Given the description of an element on the screen output the (x, y) to click on. 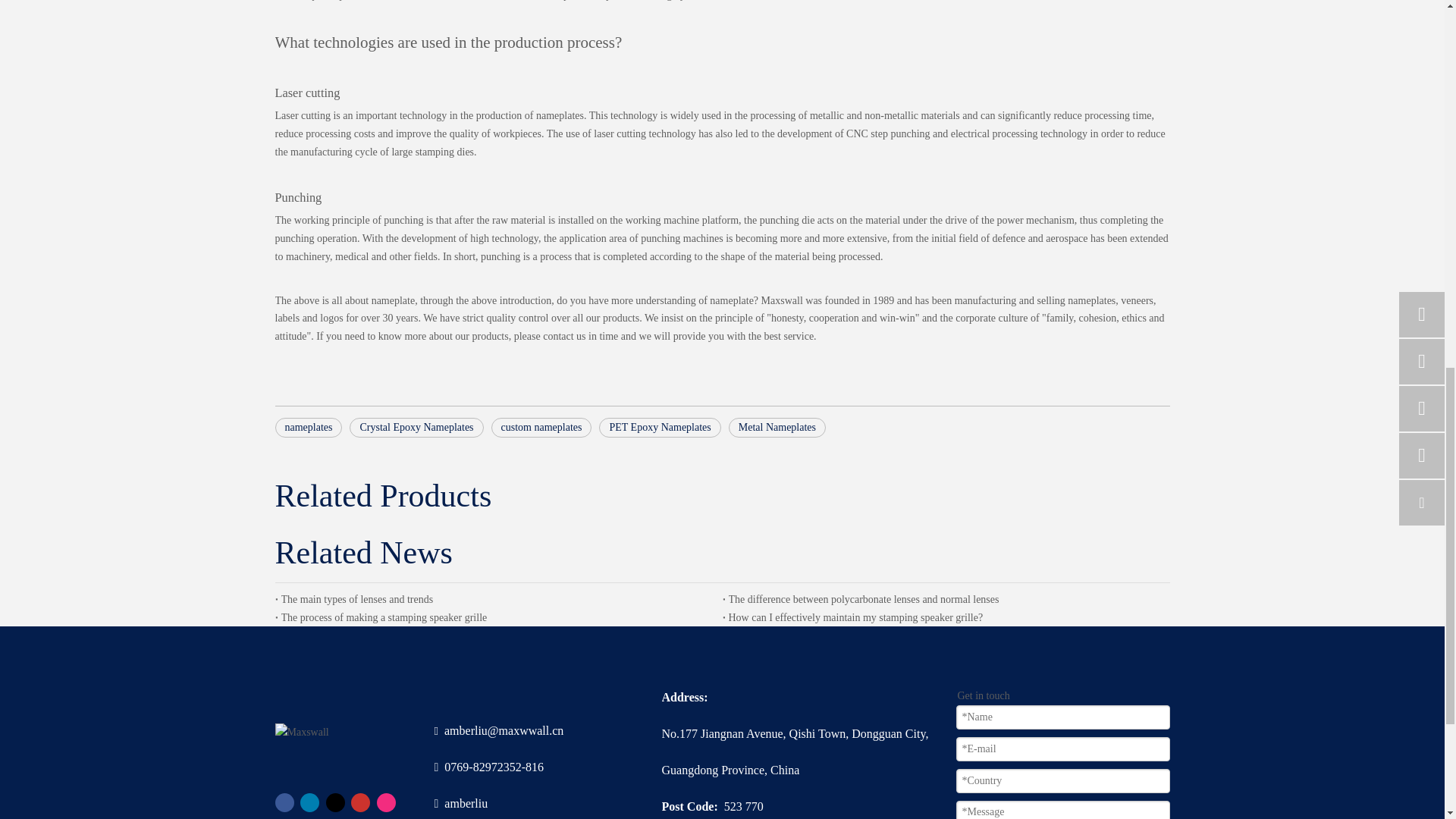
PET Epoxy Nameplates (659, 427)
Maxswall (302, 732)
Twitter (335, 802)
Crystal Epoxy Nameplates (416, 427)
Metal Nameplates (777, 427)
The process of making a stamping speaker grille (498, 618)
How can I effectively maintain my stamping speaker grille? (945, 618)
The main types of lenses and trends (498, 599)
custom nameplates (542, 427)
Linkedin (308, 802)
nameplates (308, 427)
Facebook (284, 802)
